Given the description of an element on the screen output the (x, y) to click on. 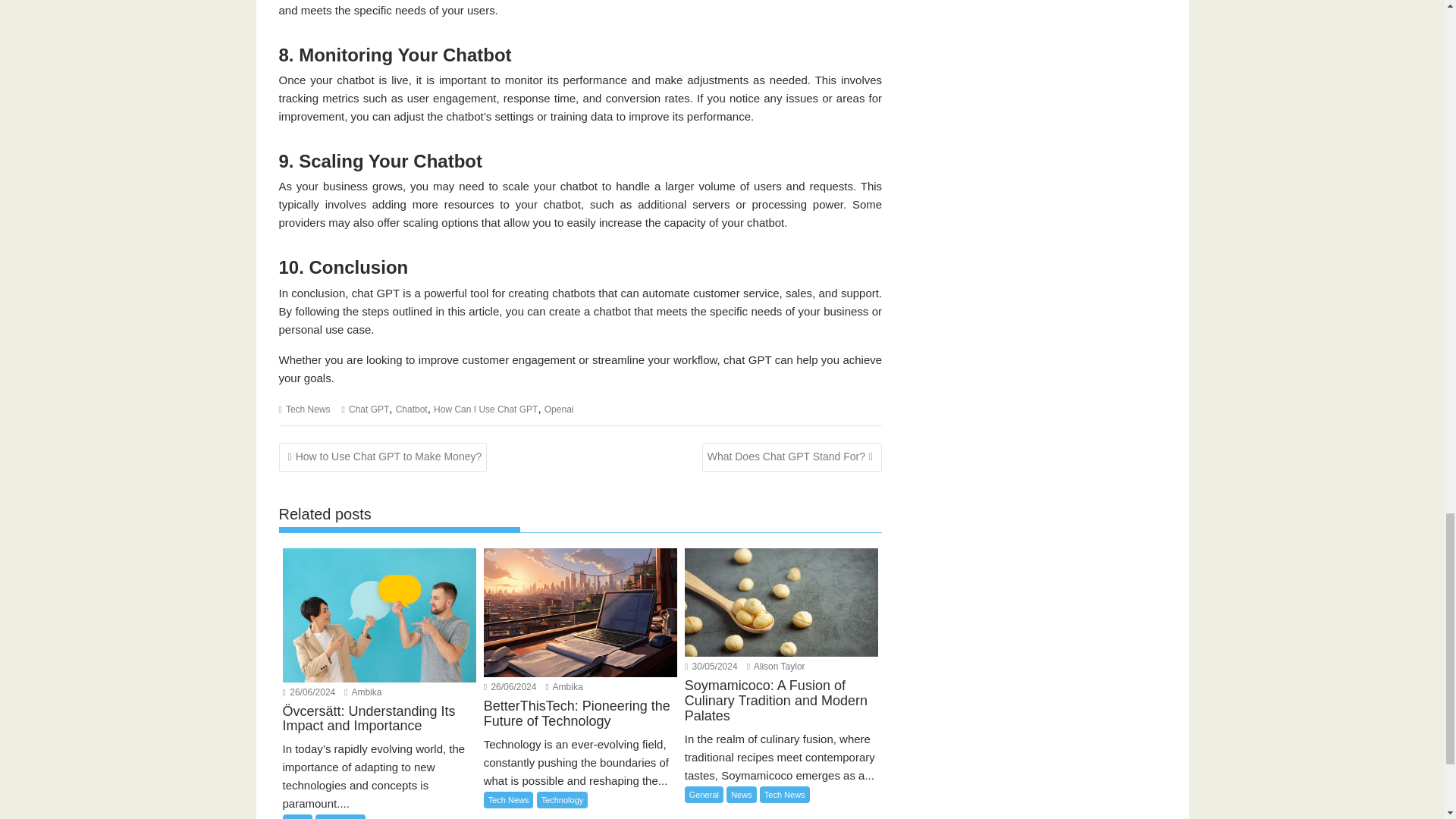
Ambika (564, 686)
Ambika (362, 692)
Alison Taylor (775, 665)
